Given the description of an element on the screen output the (x, y) to click on. 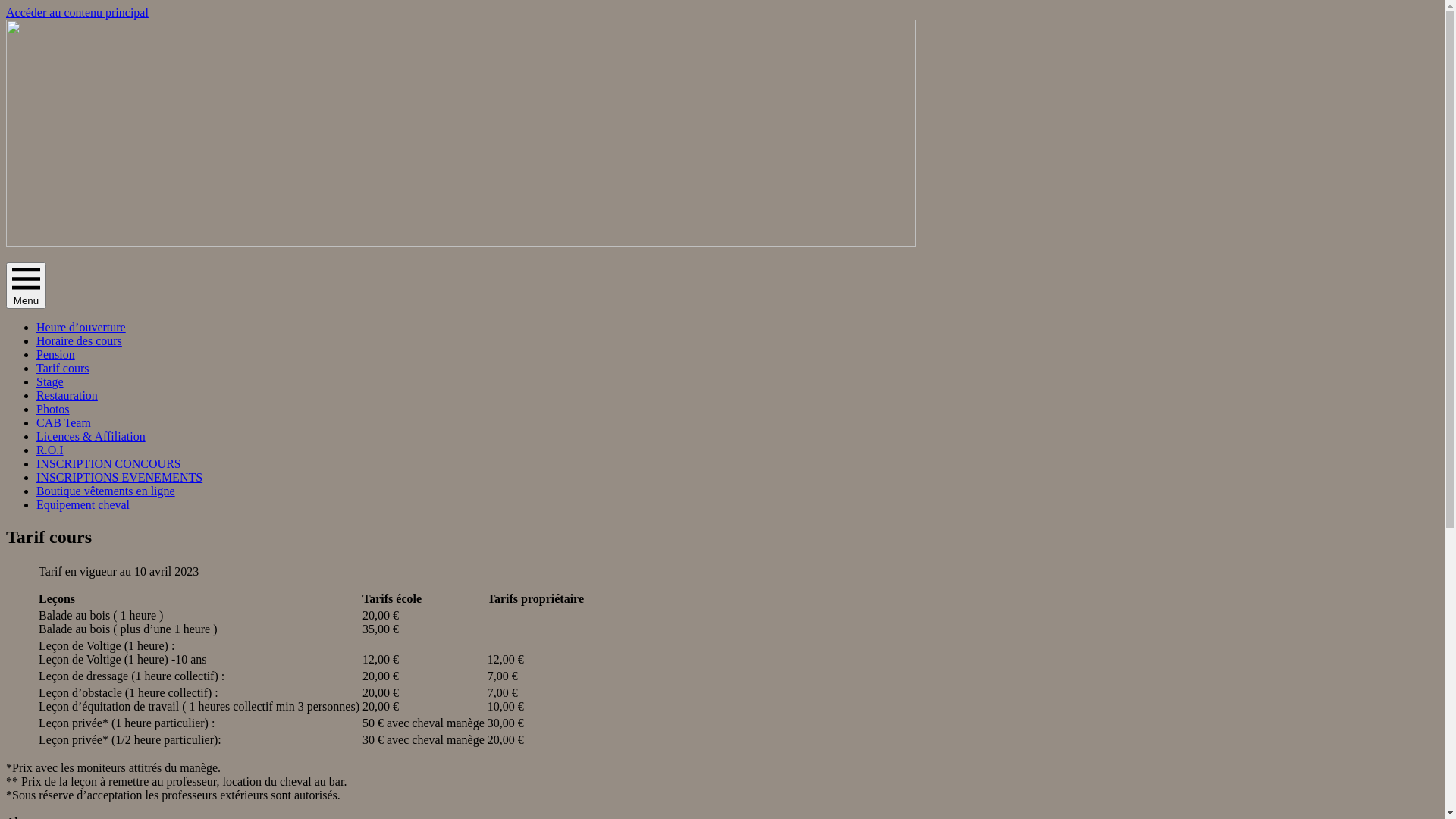
Stage Element type: text (49, 381)
Photos Element type: text (52, 408)
R.O.I Element type: text (49, 449)
Restauration Element type: text (66, 395)
Horaire des cours Element type: text (79, 340)
Pension Element type: text (55, 354)
INSCRIPTION CONCOURS Element type: text (108, 463)
Equipement cheval Element type: text (82, 504)
Tarif cours Element type: text (62, 367)
Menu Element type: text (26, 285)
CAB Team Element type: text (63, 422)
Licences & Affiliation Element type: text (90, 435)
INSCRIPTIONS EVENEMENTS Element type: text (119, 476)
